Given the description of an element on the screen output the (x, y) to click on. 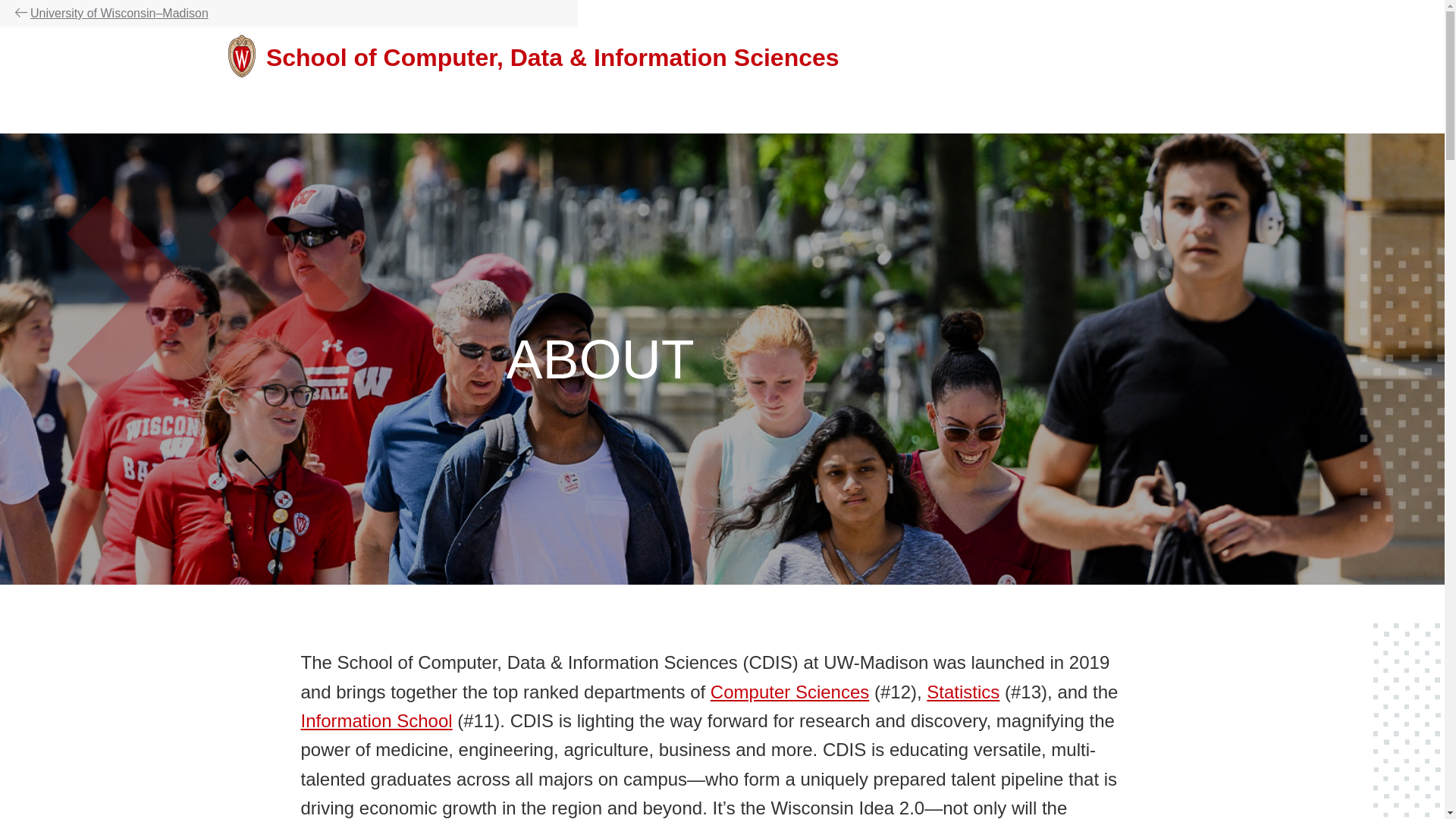
Computer Sciences (789, 691)
Statistics (962, 691)
Skip to main content (3, 136)
Information School (375, 720)
